Given the description of an element on the screen output the (x, y) to click on. 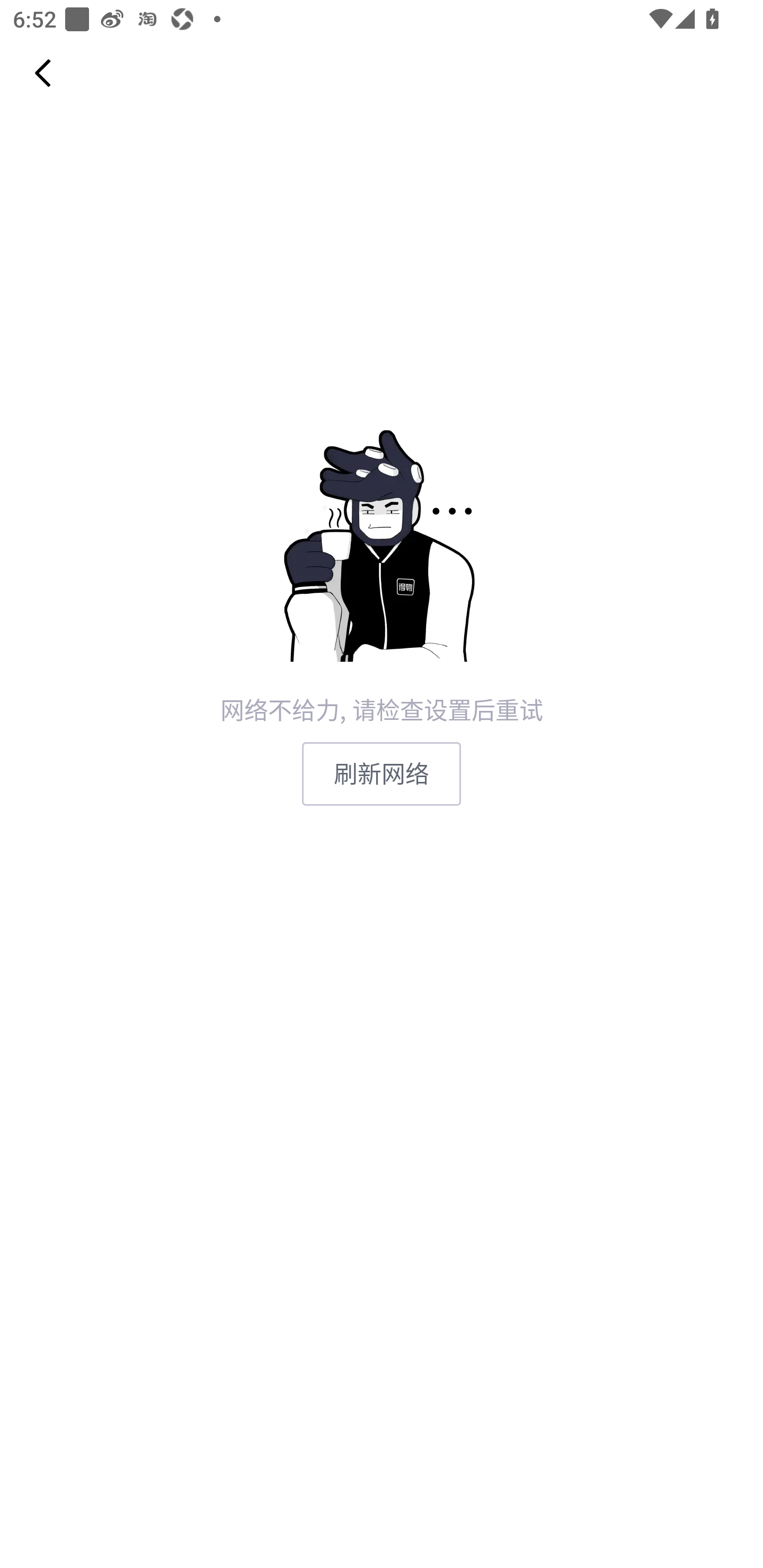
刷新网络 (381, 773)
